Given the description of an element on the screen output the (x, y) to click on. 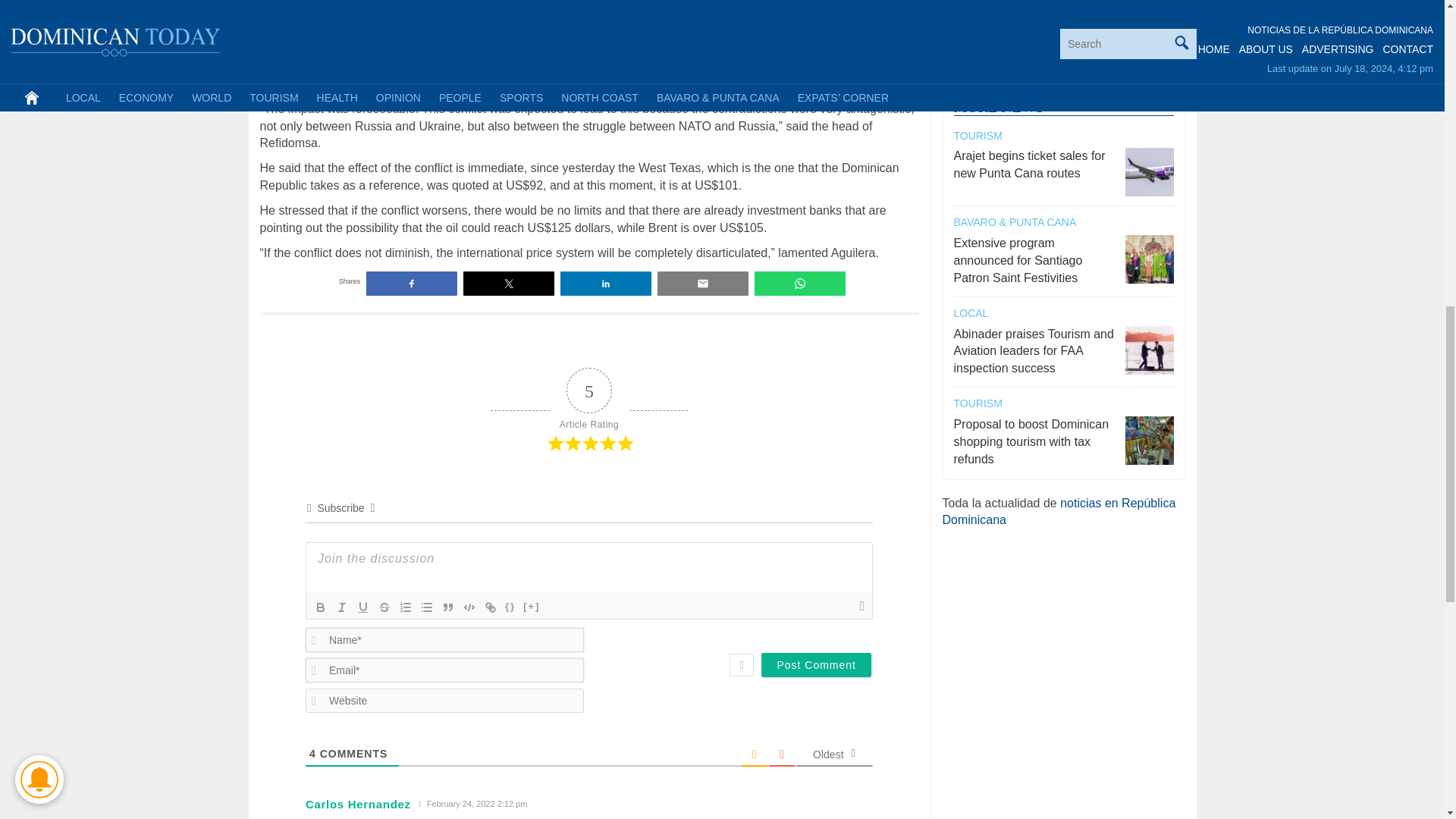
Link (490, 607)
Underline (363, 607)
Blockquote (448, 607)
Bold (320, 607)
Spoiler (531, 607)
Strike (384, 607)
Unordered List (427, 607)
bullet (427, 607)
Ordered List (405, 607)
Post Comment (815, 664)
Code Block (469, 607)
ordered (405, 607)
Source Code (509, 607)
Italic (341, 607)
